Given the description of an element on the screen output the (x, y) to click on. 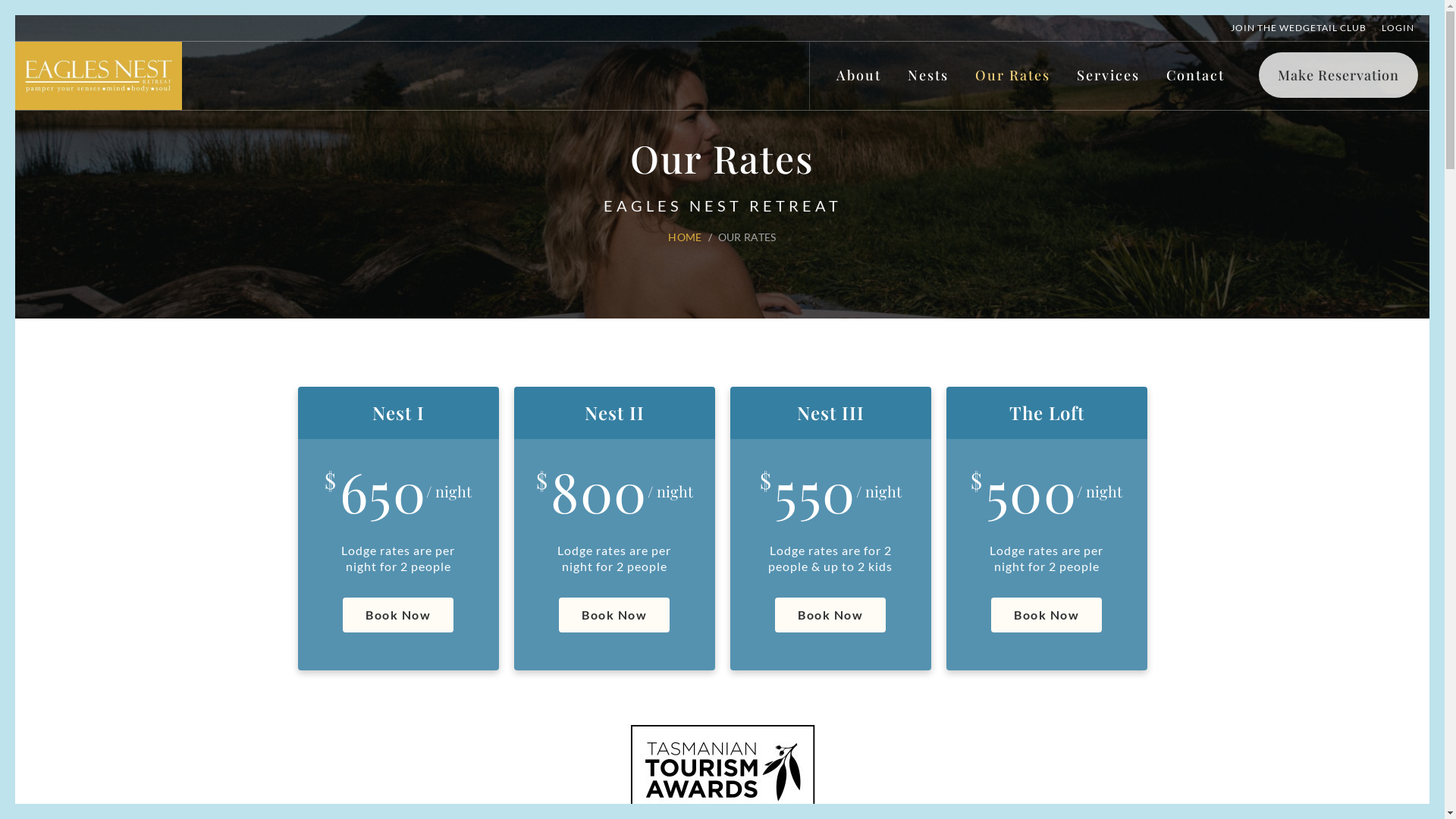
Book Now Element type: text (1046, 614)
About Element type: text (858, 74)
JOIN THE WEDGETAIL CLUB Element type: text (1298, 27)
LOGIN Element type: text (1397, 27)
Services Element type: text (1108, 74)
Contact Element type: text (1195, 74)
Our Rates Element type: text (1012, 75)
Book Now Element type: text (613, 614)
Book Now Element type: text (397, 614)
Make Reservation Element type: text (1338, 74)
Book Now Element type: text (830, 614)
Nests Element type: text (927, 74)
HOME Element type: text (684, 236)
